Given the description of an element on the screen output the (x, y) to click on. 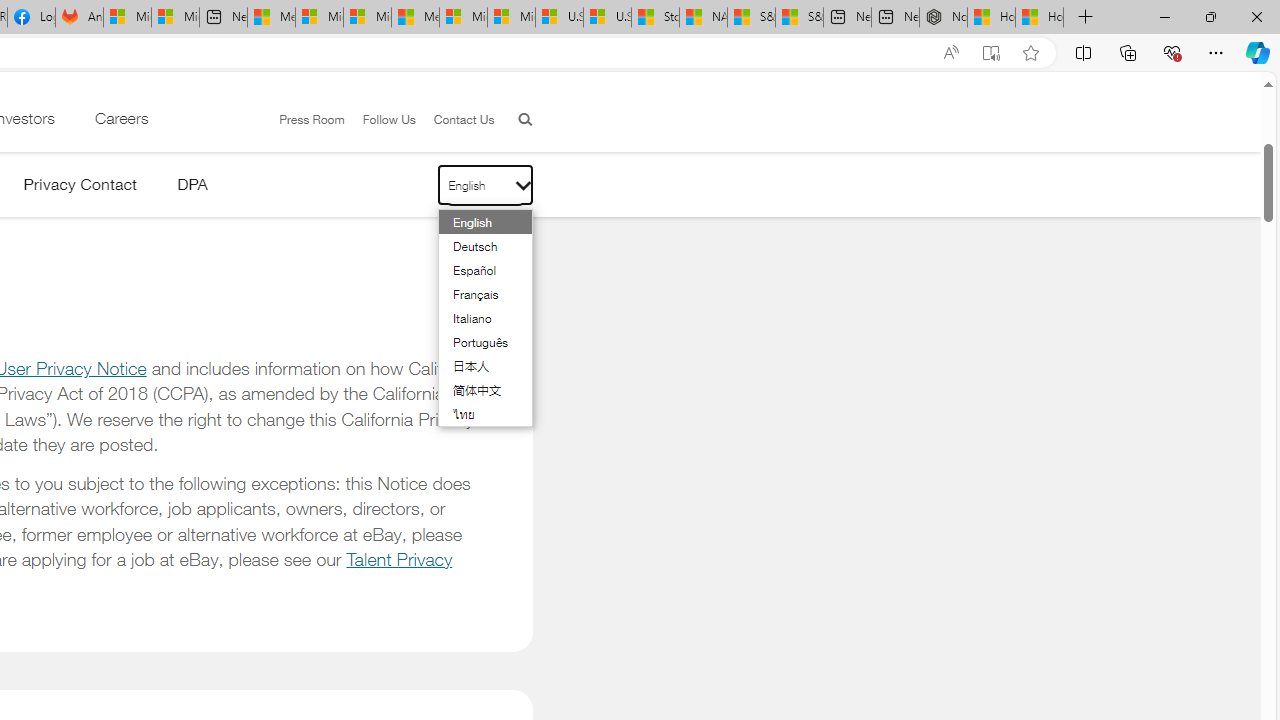
New tab (895, 17)
Split screen (1083, 52)
DPA (191, 188)
Enter Immersive Reader (F9) (991, 53)
New Tab (1085, 17)
English (474, 222)
